Given the description of an element on the screen output the (x, y) to click on. 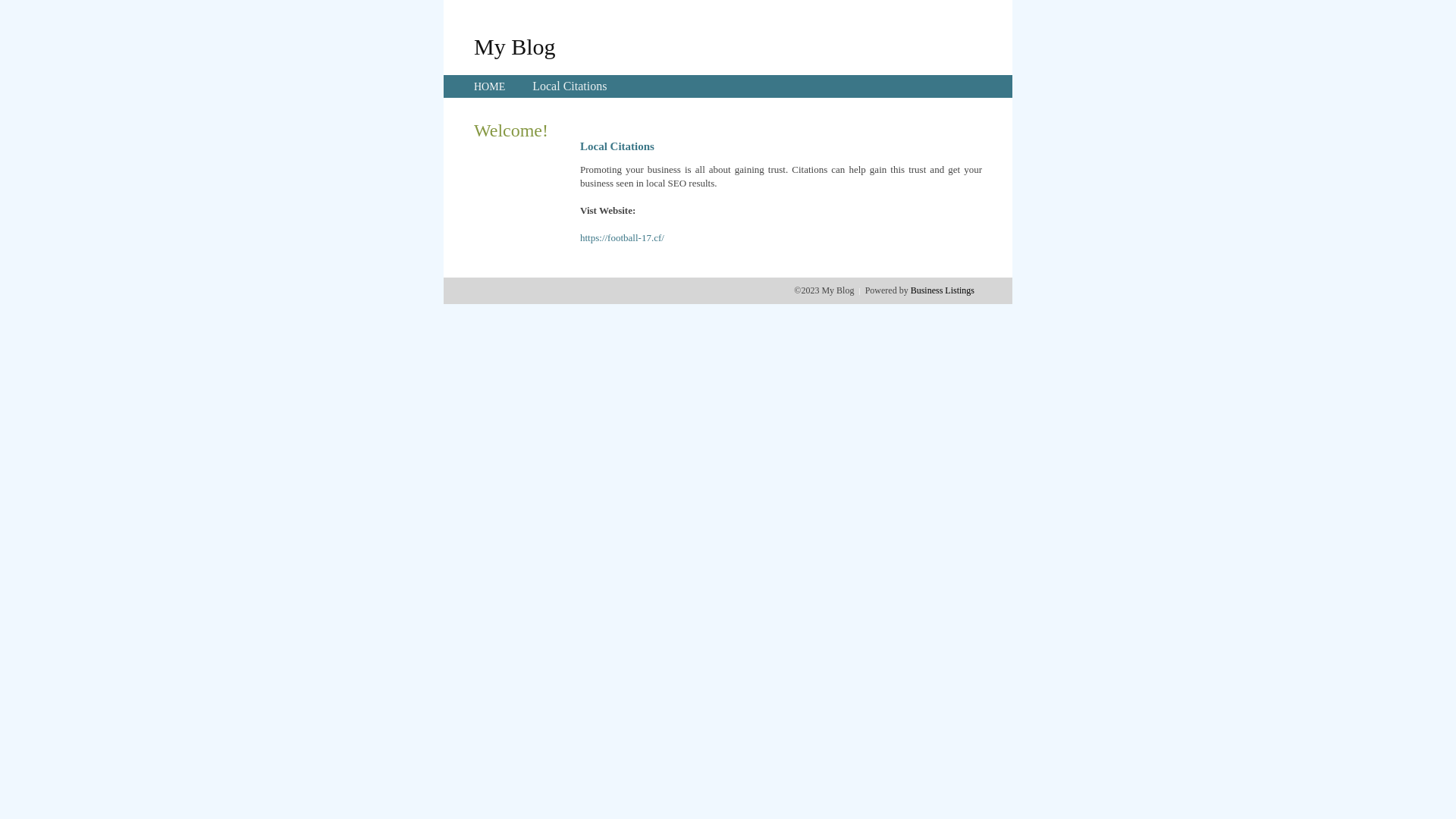
Business Listings Element type: text (942, 290)
My Blog Element type: text (514, 46)
Local Citations Element type: text (569, 85)
HOME Element type: text (489, 86)
https://football-17.cf/ Element type: text (622, 237)
